Given the description of an element on the screen output the (x, y) to click on. 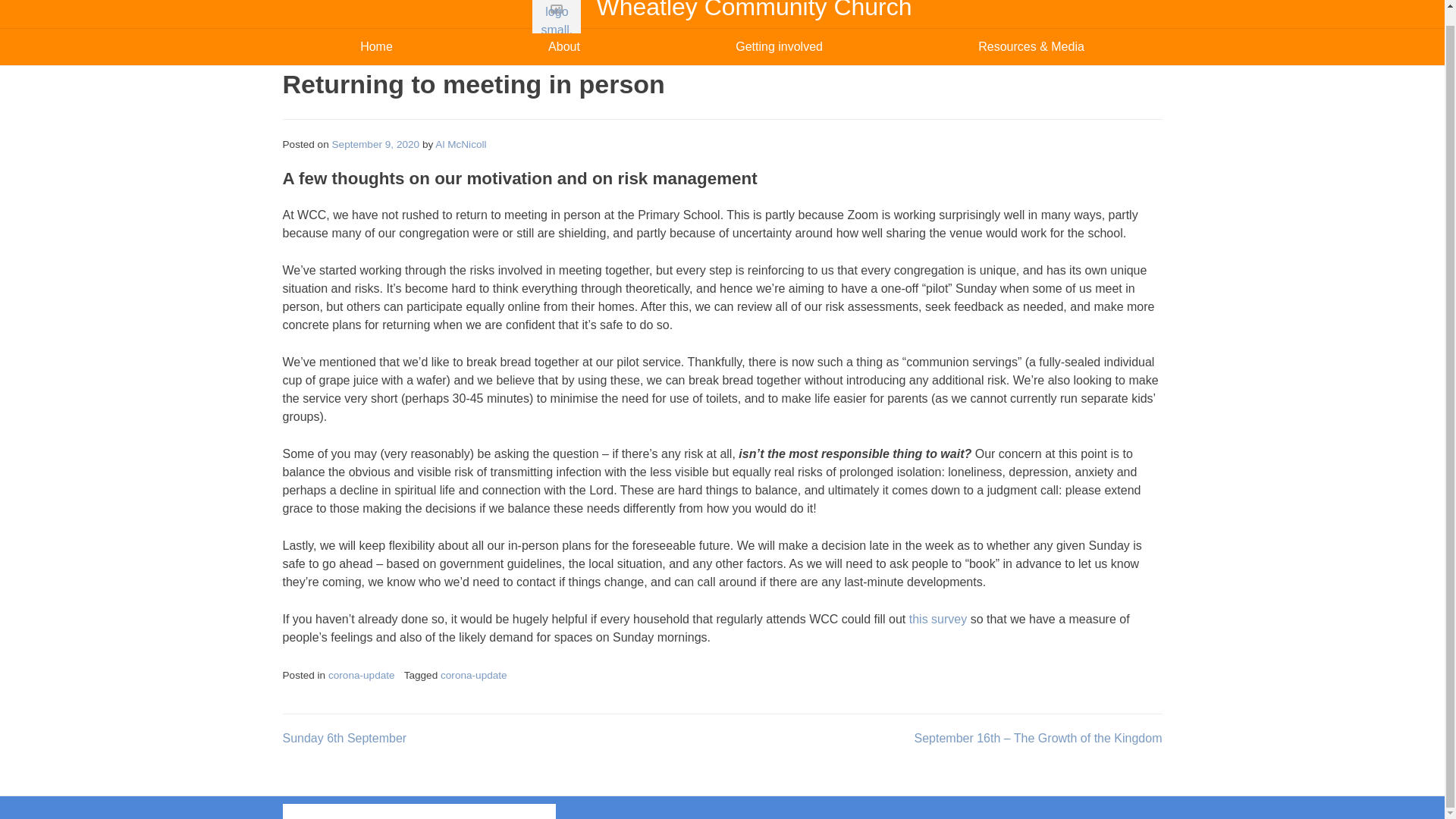
corona-update (473, 674)
Home (376, 46)
Sunday 6th September (344, 738)
this survey (937, 618)
corona-update (361, 674)
Al McNicoll (460, 143)
Wheatley Community Church (753, 10)
Getting involved (779, 46)
Privacy Policy (312, 810)
September 9, 2020 (375, 143)
